Given the description of an element on the screen output the (x, y) to click on. 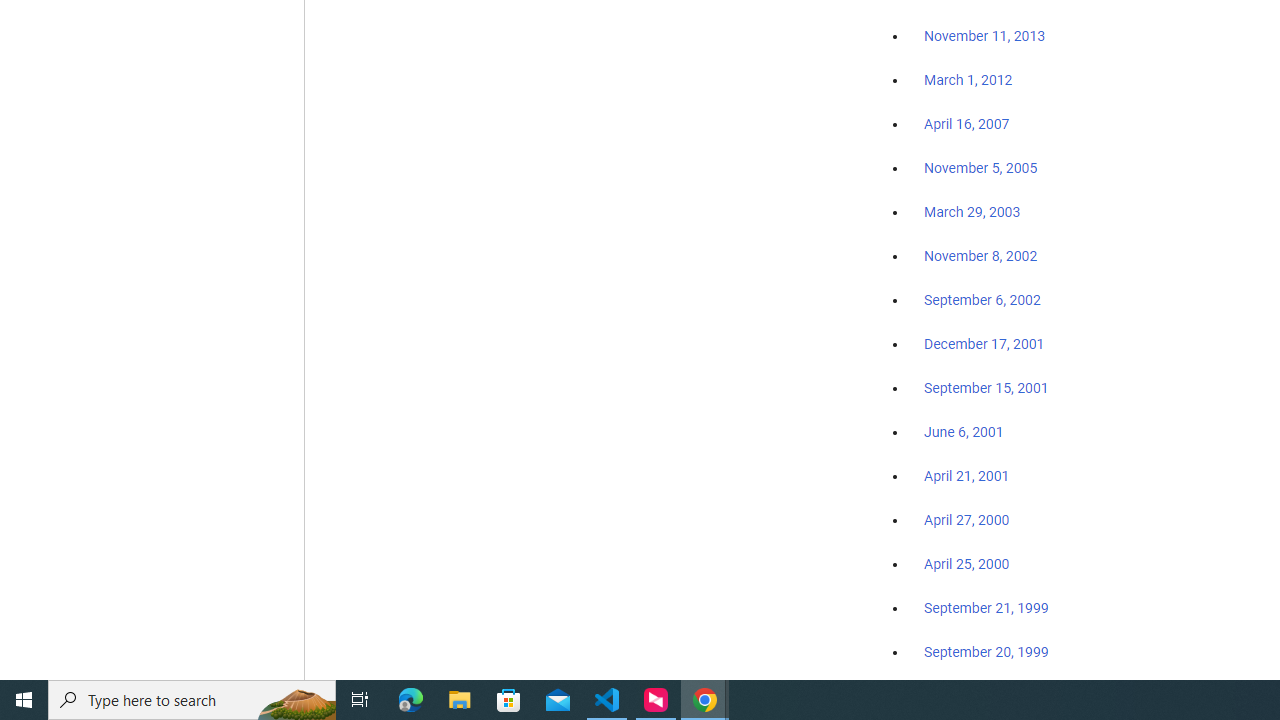
March 29, 2003 (972, 212)
November 8, 2002 (981, 255)
April 27, 2000 (966, 520)
September 20, 1999 (986, 651)
March 1, 2012 (968, 81)
November 5, 2005 (981, 168)
September 6, 2002 (982, 299)
September 15, 2001 (986, 387)
April 21, 2001 (966, 476)
April 16, 2007 (966, 124)
December 17, 2001 (984, 343)
April 25, 2000 (966, 564)
November 11, 2013 (984, 37)
September 21, 1999 (986, 608)
June 6, 2001 (963, 431)
